Given the description of an element on the screen output the (x, y) to click on. 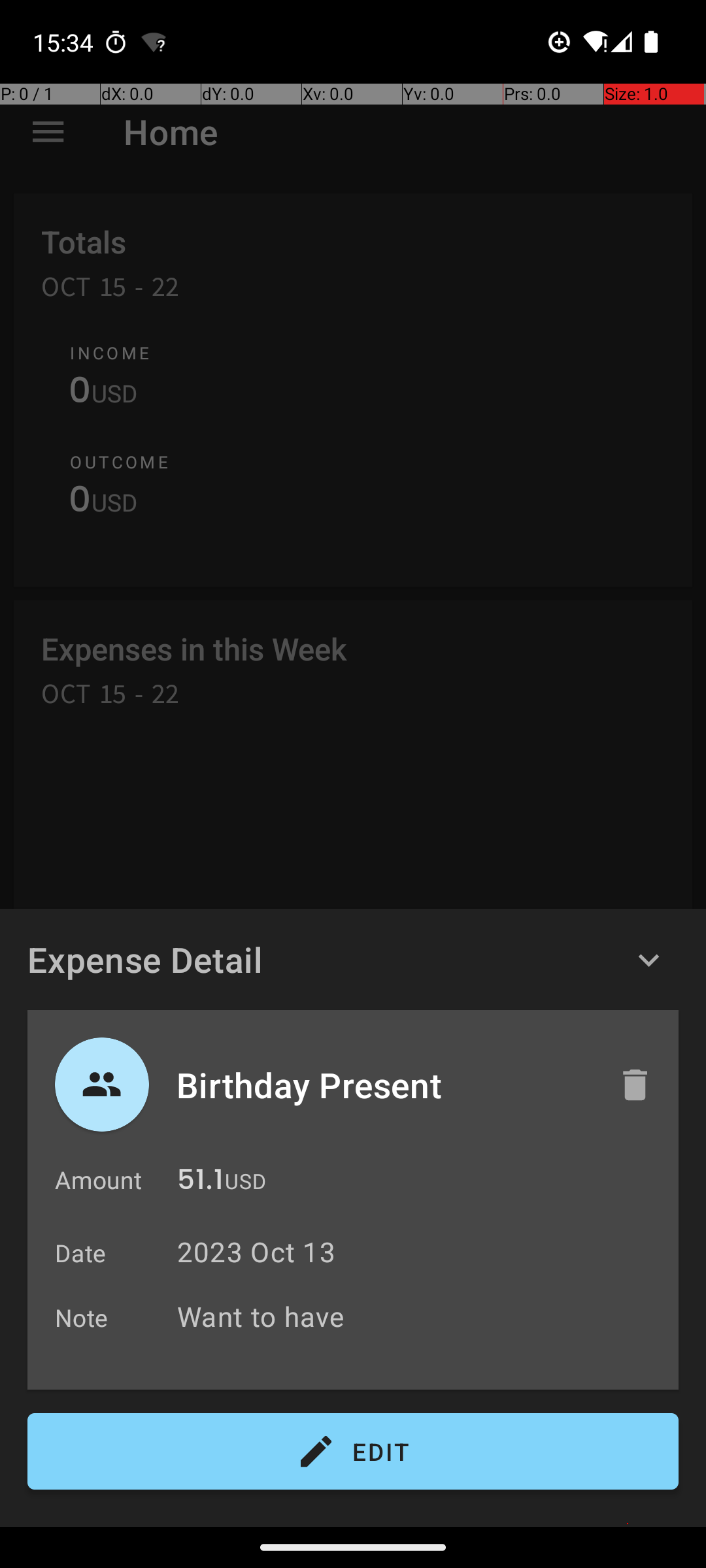
Birthday Present Element type: android.widget.TextView (383, 1084)
51.1 Element type: android.widget.TextView (200, 1182)
